Given the description of an element on the screen output the (x, y) to click on. 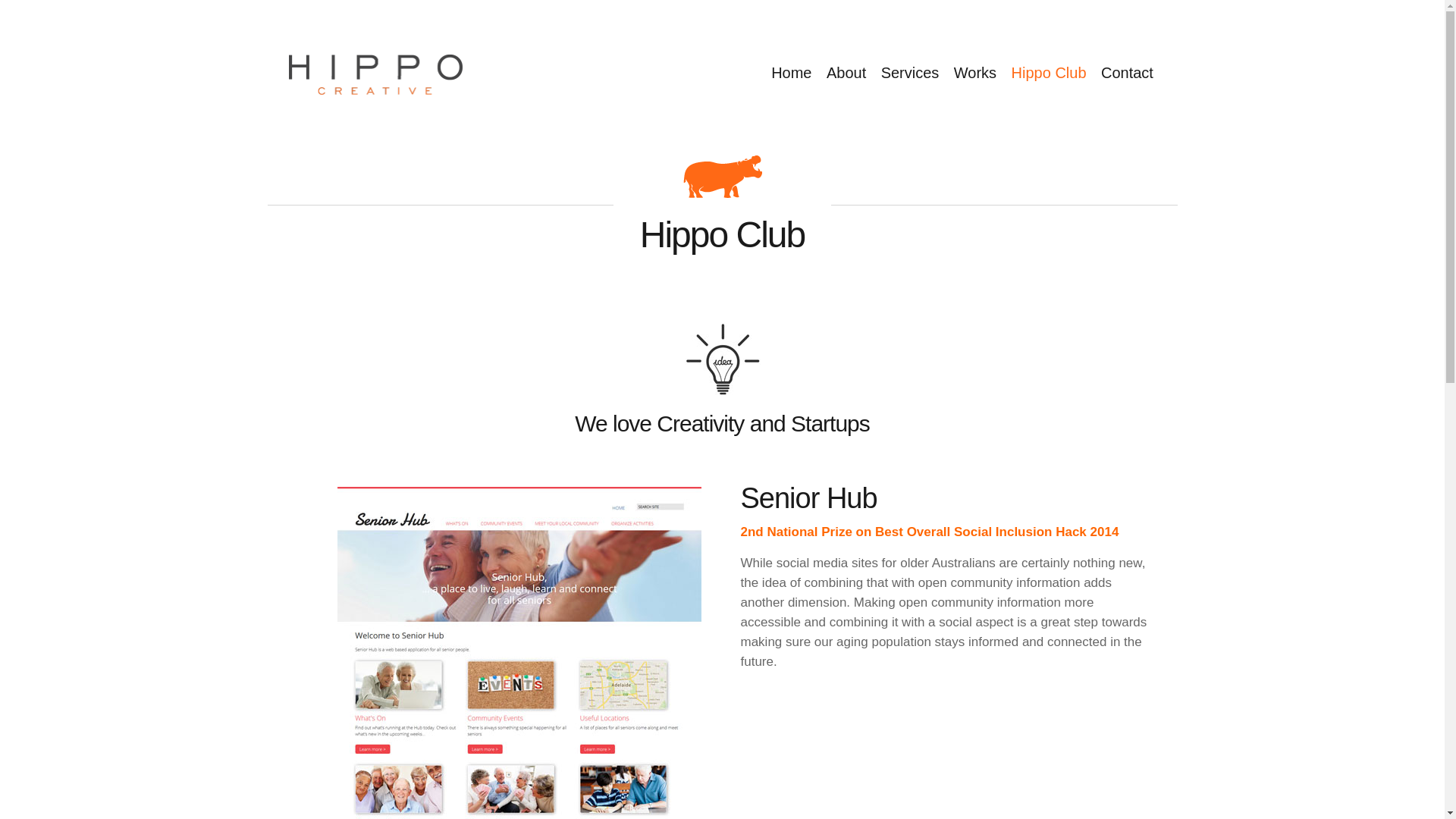
Services Element type: text (910, 72)
About Element type: text (846, 72)
Contact Element type: text (1127, 72)
Web Design Adelaide Element type: hover (721, 176)
Hippo Club Element type: text (1048, 72)
Works Element type: text (974, 72)
Home Element type: text (791, 72)
